Given the description of an element on the screen output the (x, y) to click on. 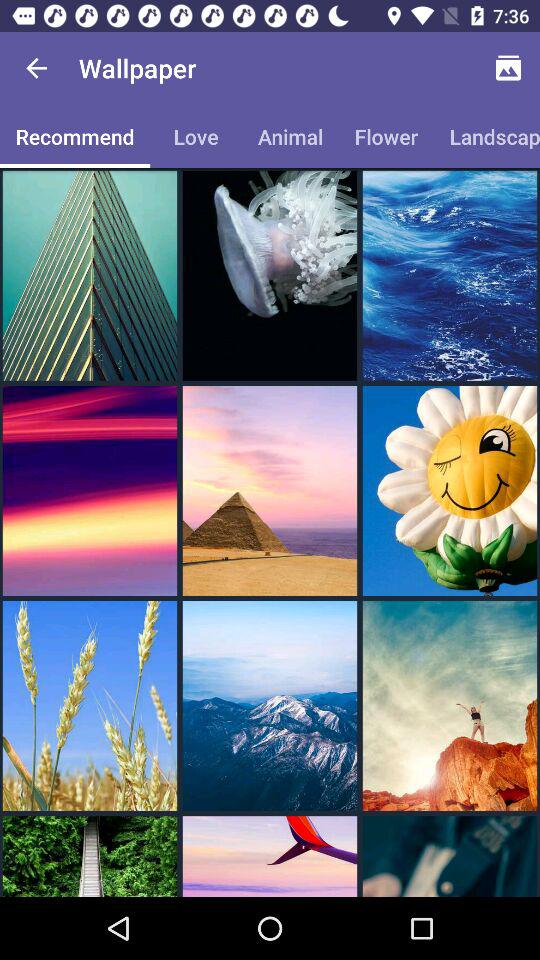
turn on the icon next to wallpaper icon (36, 68)
